Given the description of an element on the screen output the (x, y) to click on. 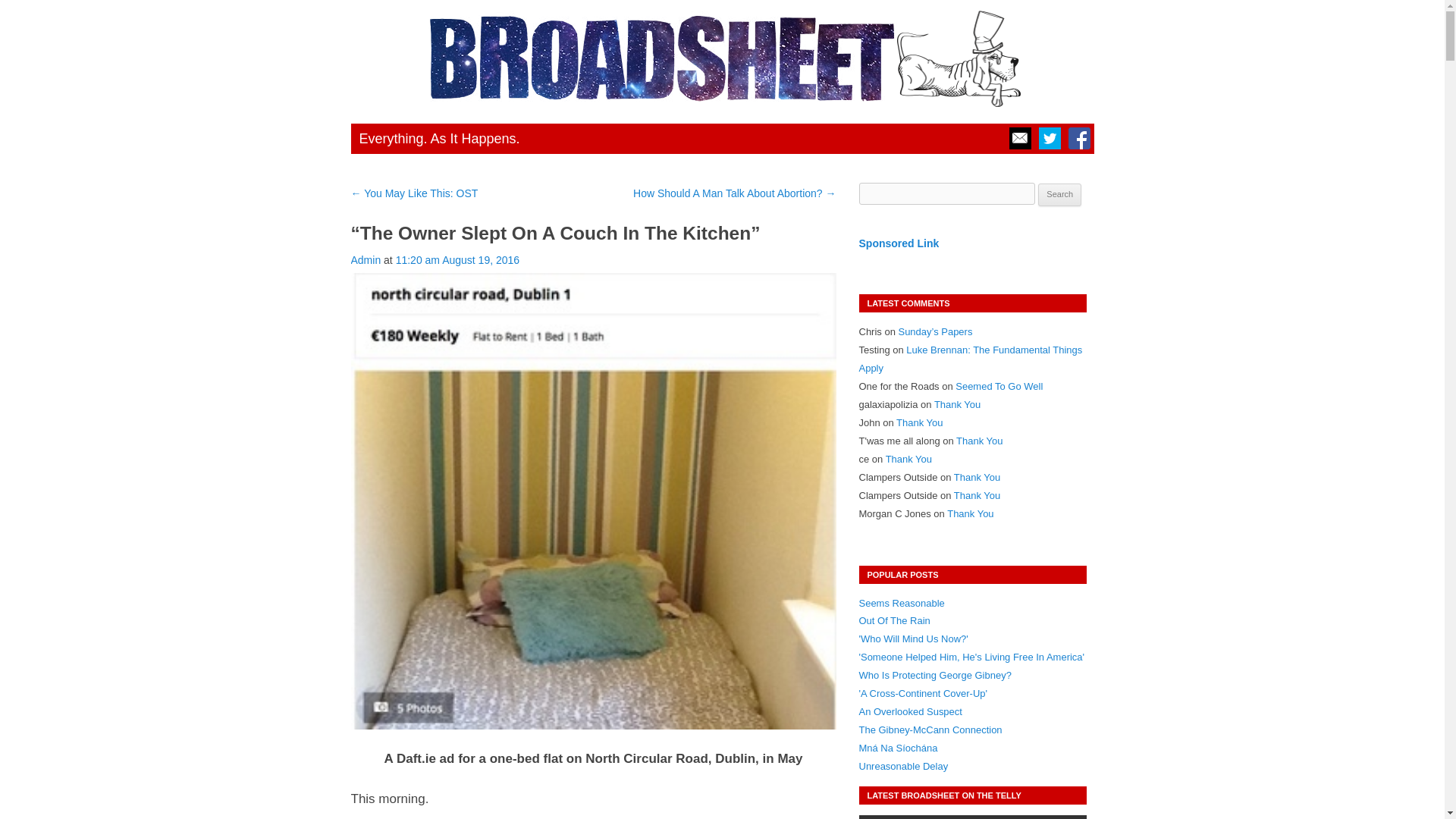
11:20 am August 19, 2016 (457, 259)
Admin (365, 259)
View all posts by Admin (365, 259)
11:20 am (457, 259)
